Given the description of an element on the screen output the (x, y) to click on. 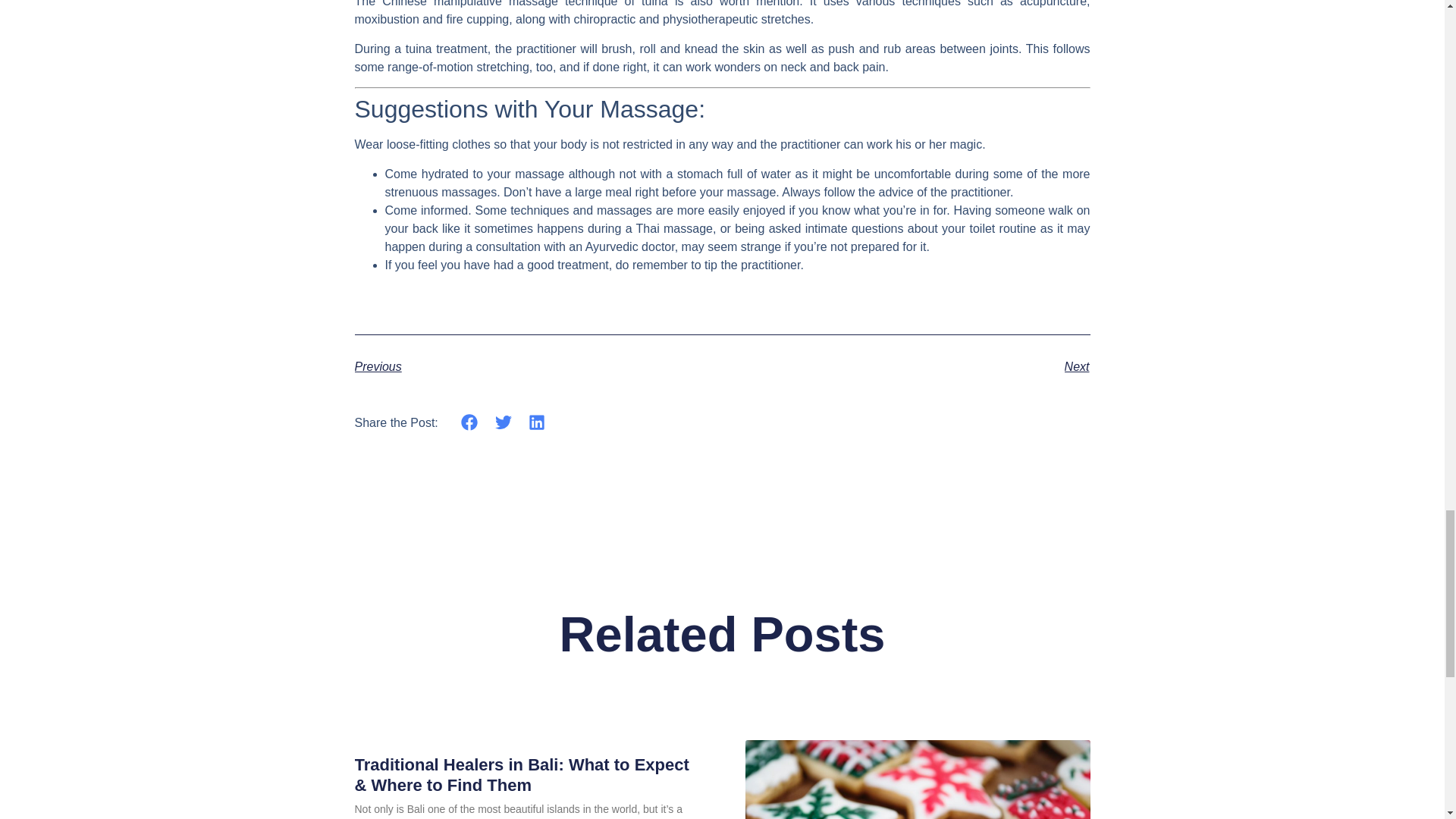
Previous (538, 366)
Next (905, 366)
